Given the description of an element on the screen output the (x, y) to click on. 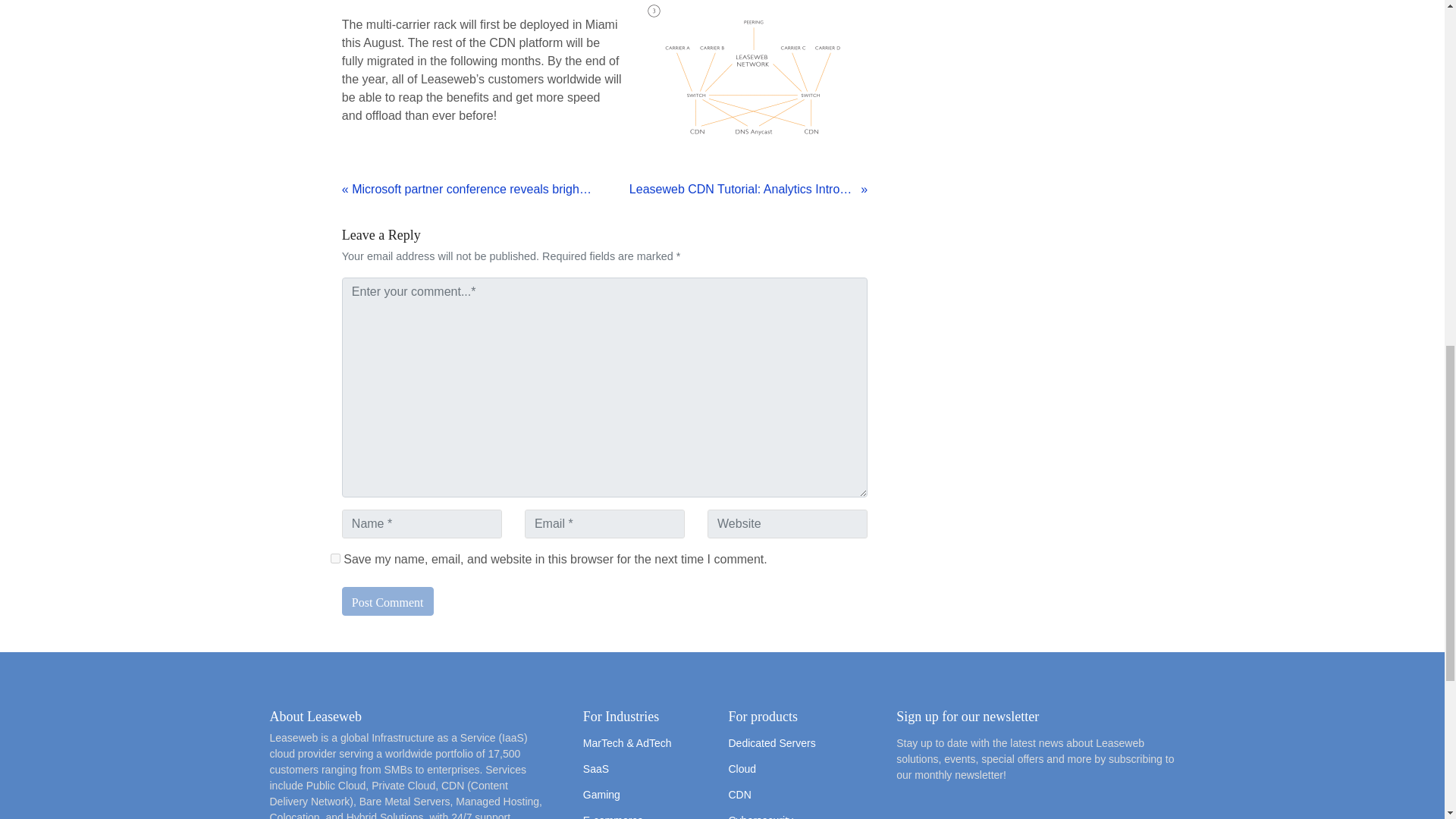
Form 0 (1035, 807)
Post Comment (387, 601)
yes (335, 558)
